Given the description of an element on the screen output the (x, y) to click on. 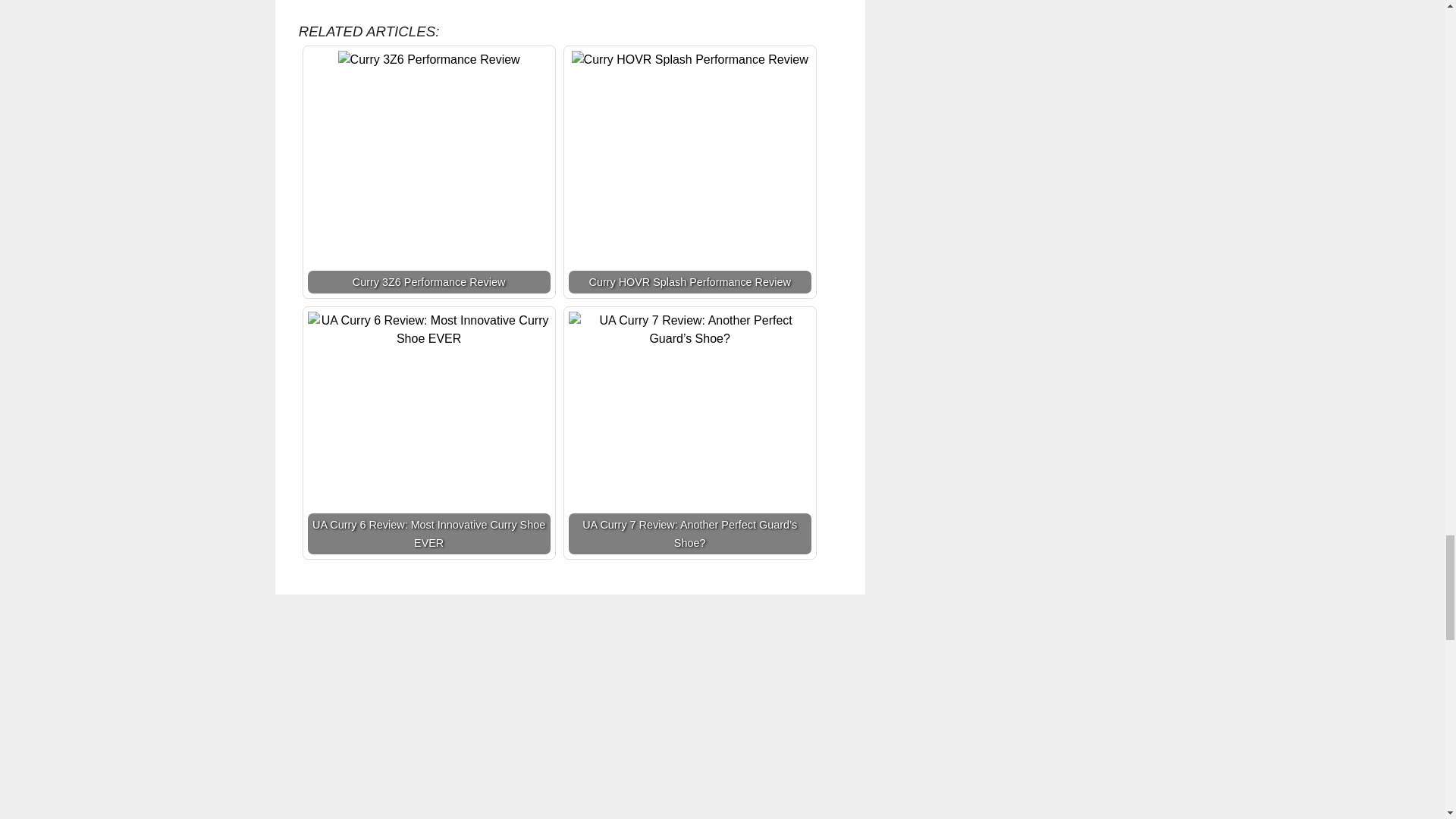
UA Curry 6 Review: Most Innovative Curry Shoe EVER (428, 433)
Curry HOVR Splash Performance Review (690, 59)
UA Curry 6 Review: Most Innovative Curry Shoe EVER (428, 330)
Curry 3Z6 Performance Review (428, 171)
Curry HOVR Splash Performance Review (689, 171)
Curry 3Z6 Performance Review (428, 59)
